Given the description of an element on the screen output the (x, y) to click on. 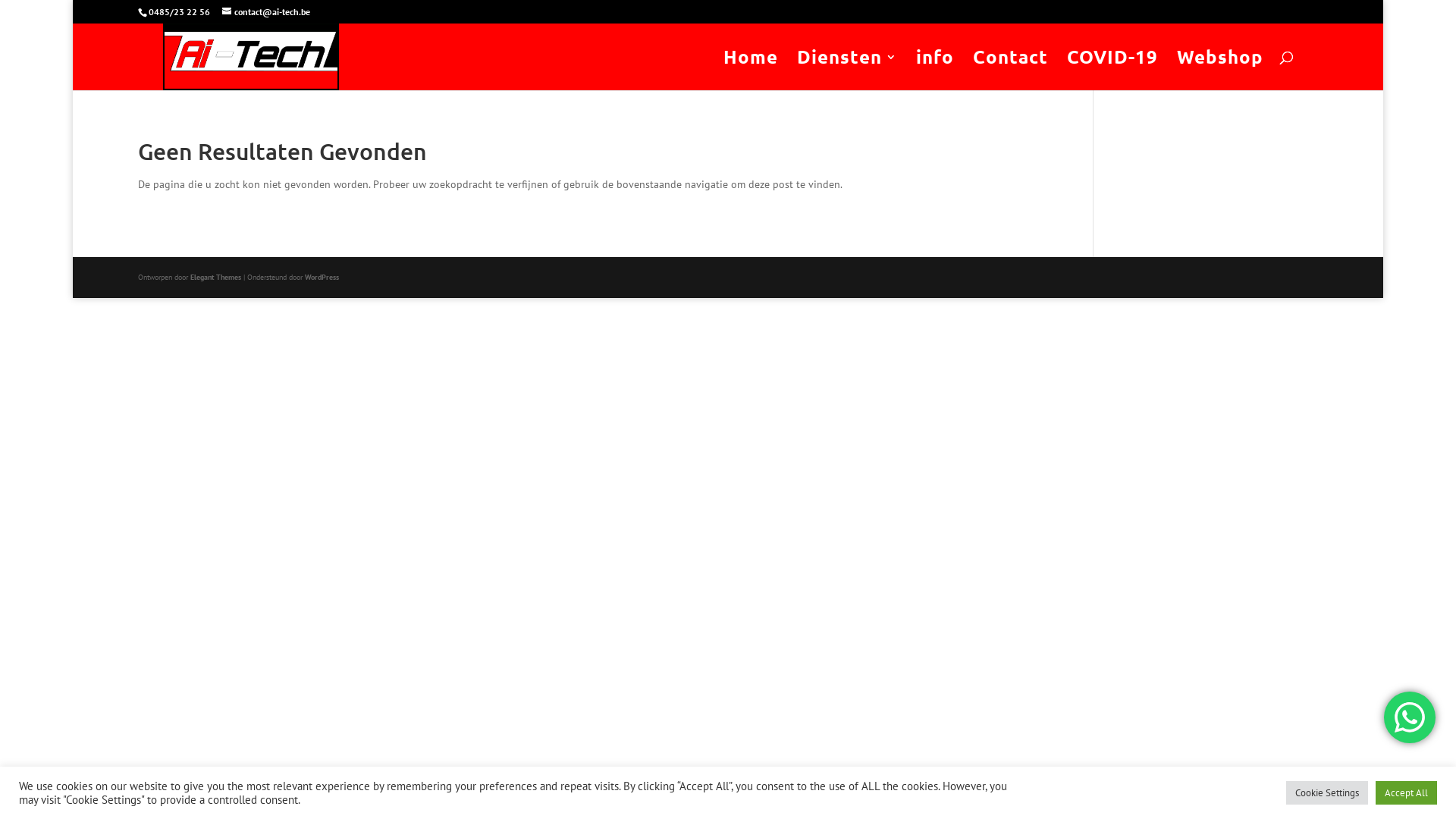
contact@ai-tech.be Element type: text (266, 11)
Contact Element type: text (1010, 70)
COVID-19 Element type: text (1111, 70)
Home Element type: text (750, 70)
info Element type: text (934, 70)
WhatsApp us Element type: hover (1409, 717)
Webshop Element type: text (1219, 70)
Accept All Element type: text (1406, 792)
WordPress Element type: text (321, 277)
Cookie Settings Element type: text (1327, 792)
Diensten Element type: text (847, 70)
Elegant Themes Element type: text (215, 277)
